Given the description of an element on the screen output the (x, y) to click on. 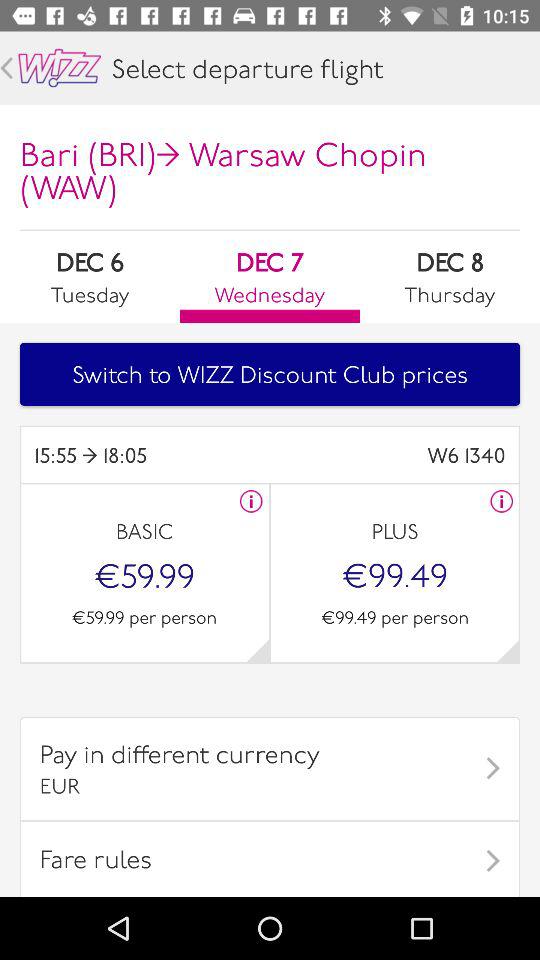
launch item to the left of w6 1340 item (152, 454)
